Given the description of an element on the screen output the (x, y) to click on. 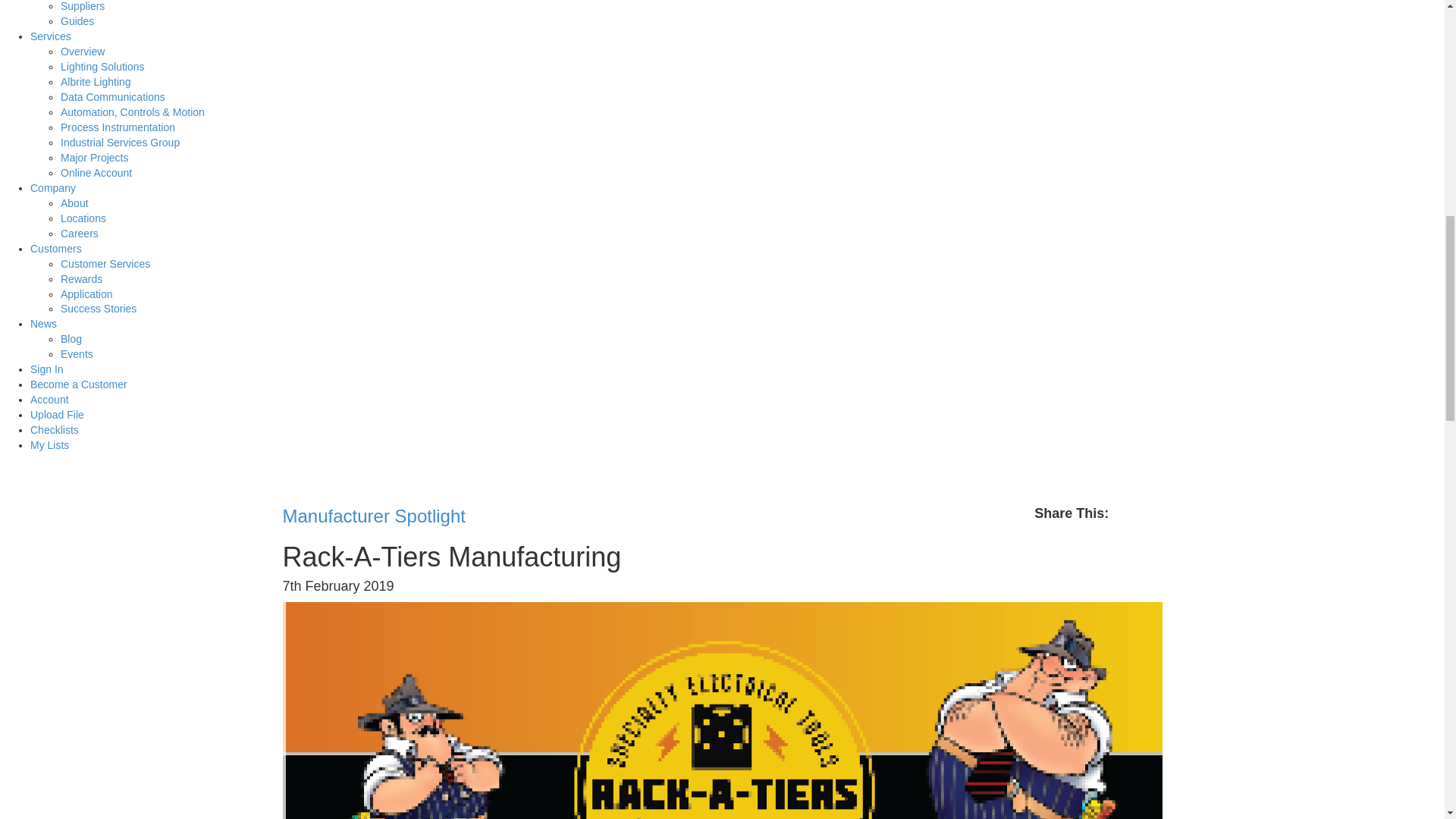
Application (87, 294)
Data Communications (113, 96)
Services (50, 36)
Become a Customer (79, 384)
Process Instrumentation (117, 127)
News (43, 323)
Albrite Lighting (96, 81)
Guides (77, 21)
Lighting Solutions (102, 66)
Careers (80, 233)
